Given the description of an element on the screen output the (x, y) to click on. 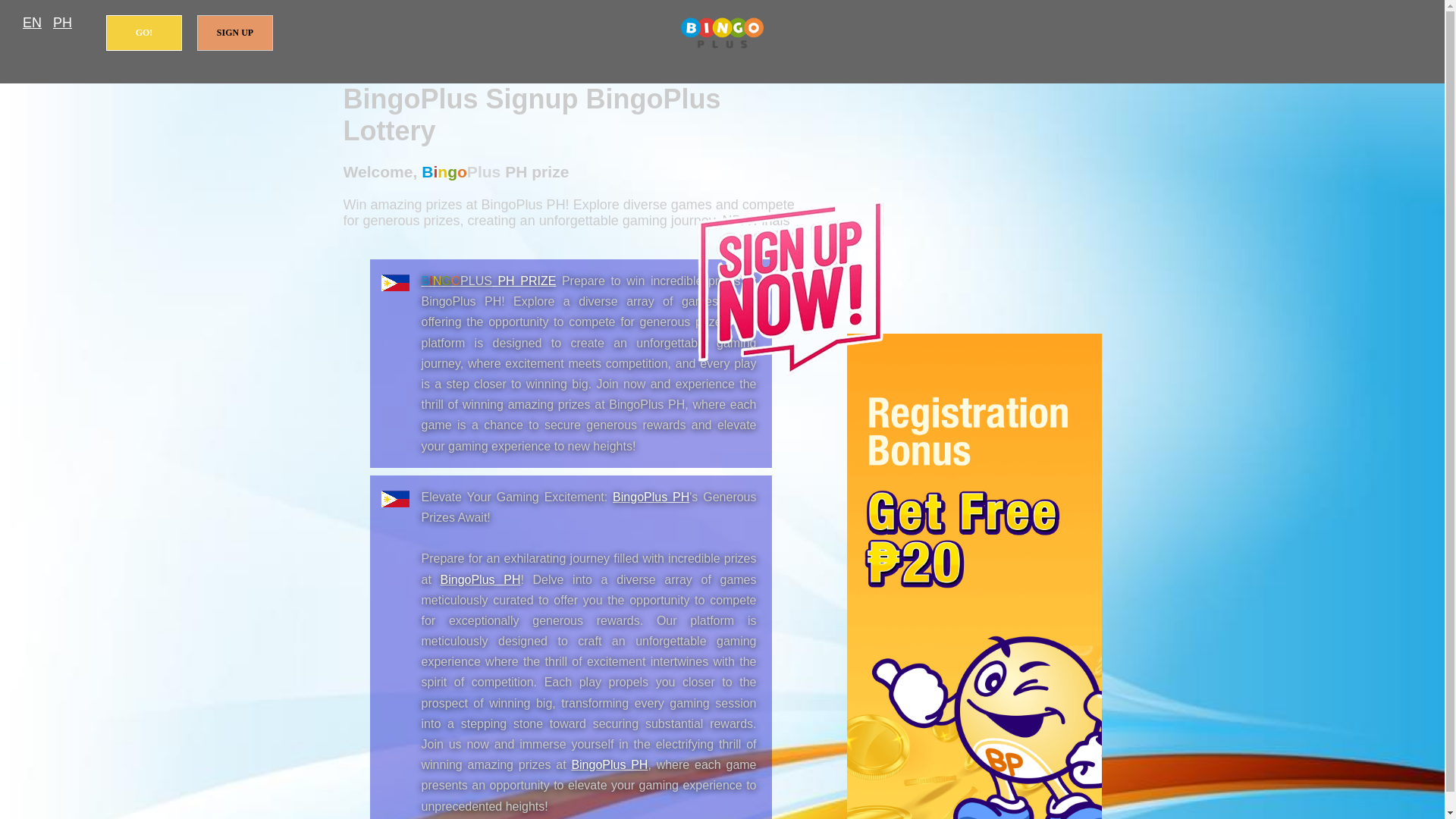
EN (32, 23)
BingoPlus PH - BingoPlus PH prize (608, 764)
BingoPlus PH - BingoPlus PH prize (650, 496)
BingoPlus PH prize (721, 32)
BingoPlus PH - BingoPlus PH prize (481, 579)
Pilipinas - Filipino (61, 23)
BINGOPLUS PH PRIZE (489, 280)
PH (61, 23)
BingoPlus PH (481, 579)
BingoPlus PH (608, 764)
English - Filipino (32, 23)
SIGN UP (234, 32)
BingoPlus PH (650, 496)
GO! (144, 32)
BingoPlus PH prize (489, 280)
